Given the description of an element on the screen output the (x, y) to click on. 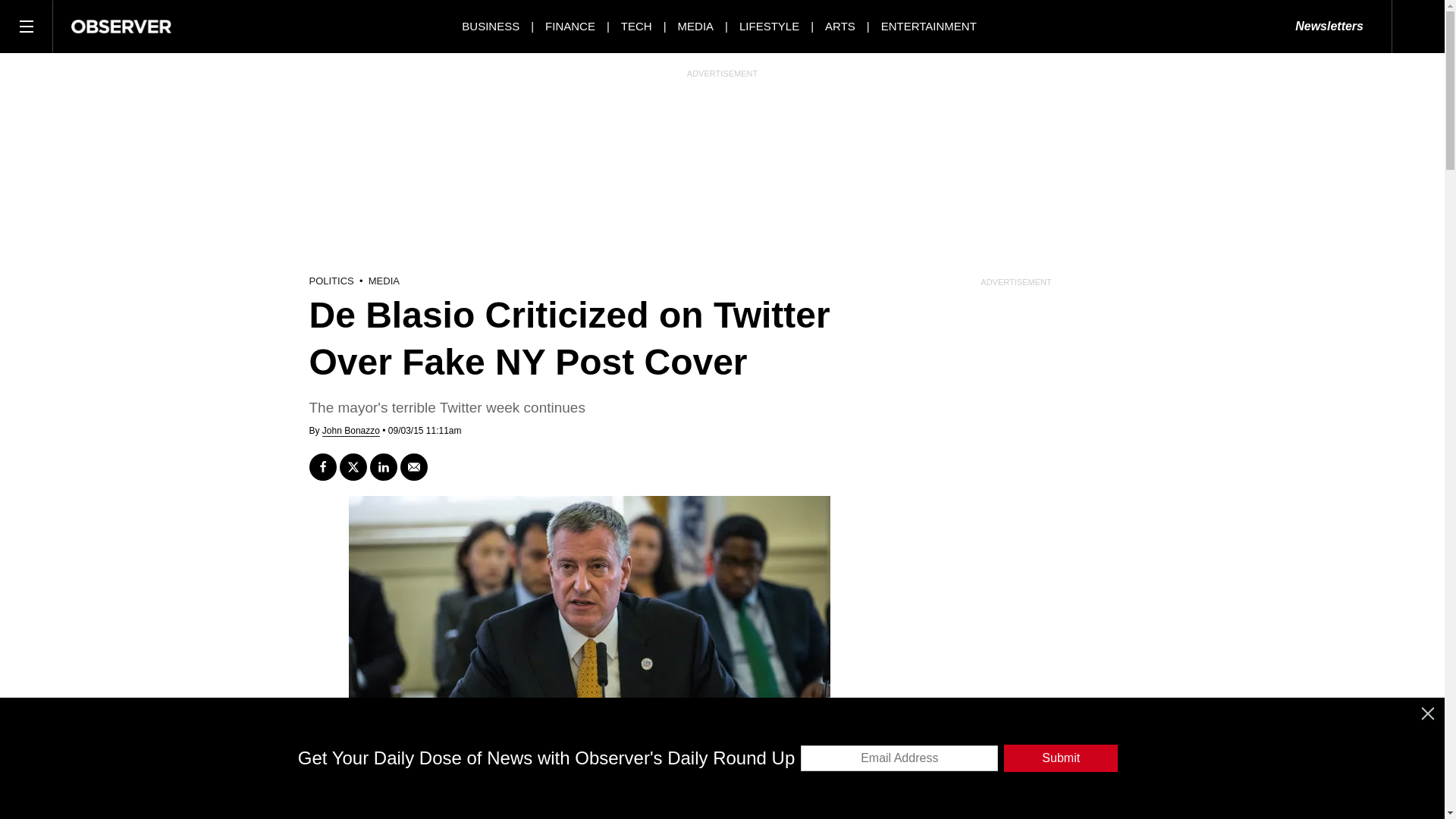
Newsletters (1329, 26)
View All Posts by John Bonazzo (350, 430)
BUSINESS (490, 25)
FINANCE (569, 25)
Share on Facebook (322, 466)
Share on LinkedIn (383, 466)
ENTERTAINMENT (928, 25)
Tweet (352, 466)
Observer (121, 26)
LIFESTYLE (769, 25)
